Given the description of an element on the screen output the (x, y) to click on. 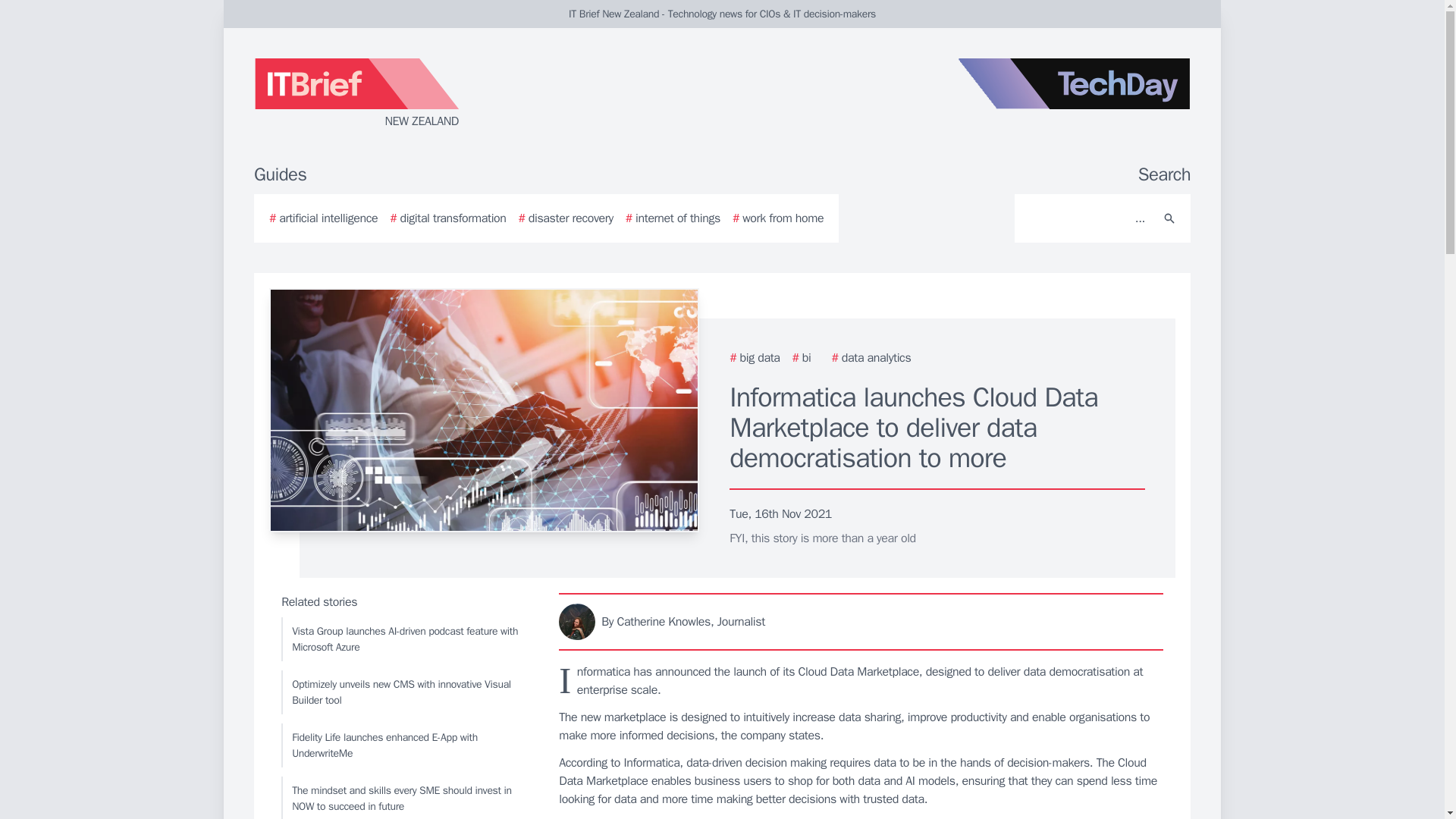
Fidelity Life launches enhanced E-App with UnderwriteMe (406, 745)
NEW ZEALAND (435, 94)
By Catherine Knowles, Journalist (861, 621)
